Given the description of an element on the screen output the (x, y) to click on. 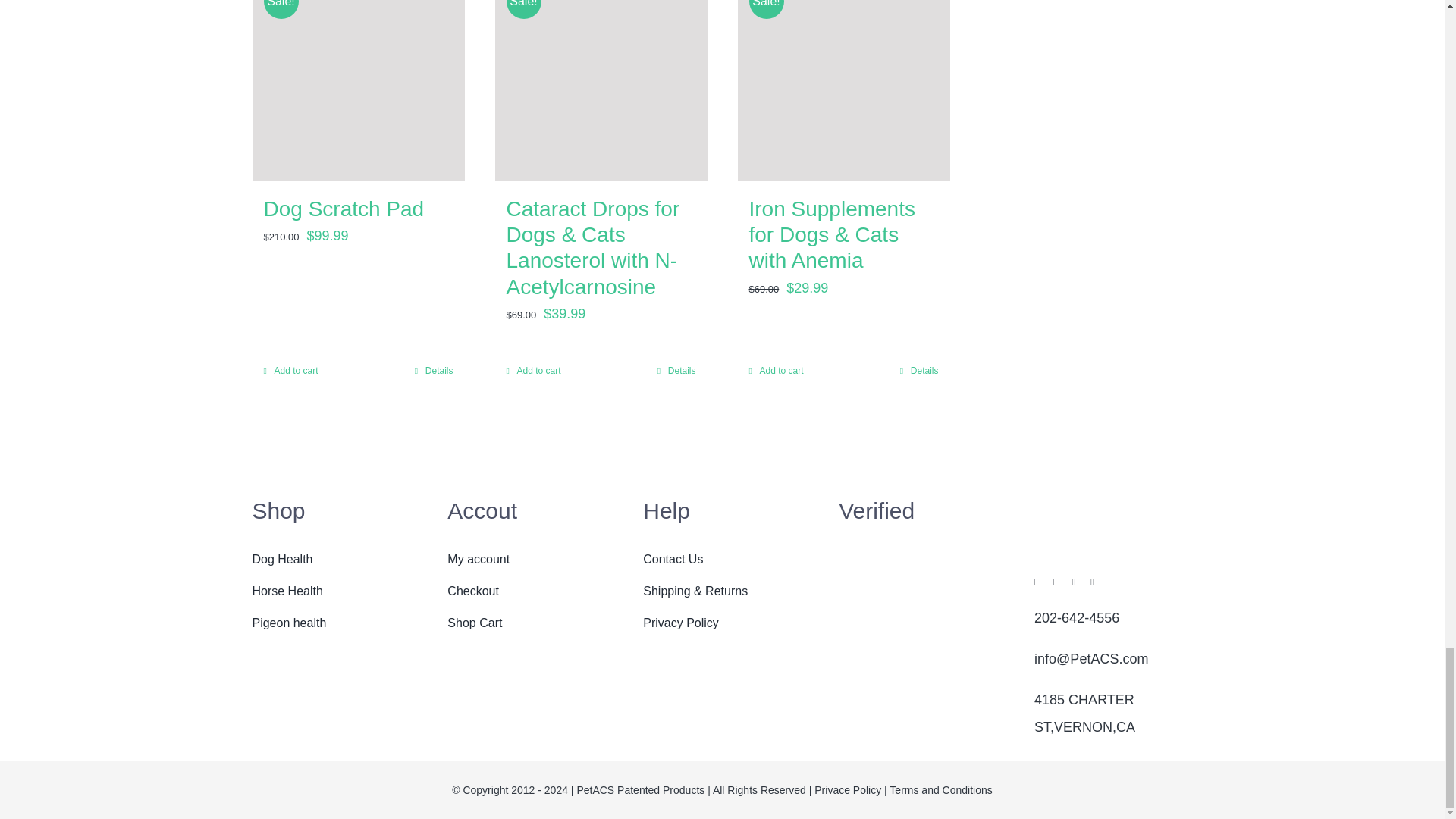
Sale! (600, 90)
Add to cart (290, 370)
pharmacy-v3-2 (916, 657)
Add to cart (533, 370)
Dog Scratch Pad (344, 208)
Details (433, 370)
trust-badge (916, 578)
Details (676, 370)
Sale! (357, 90)
Sale! (842, 90)
